Given the description of an element on the screen output the (x, y) to click on. 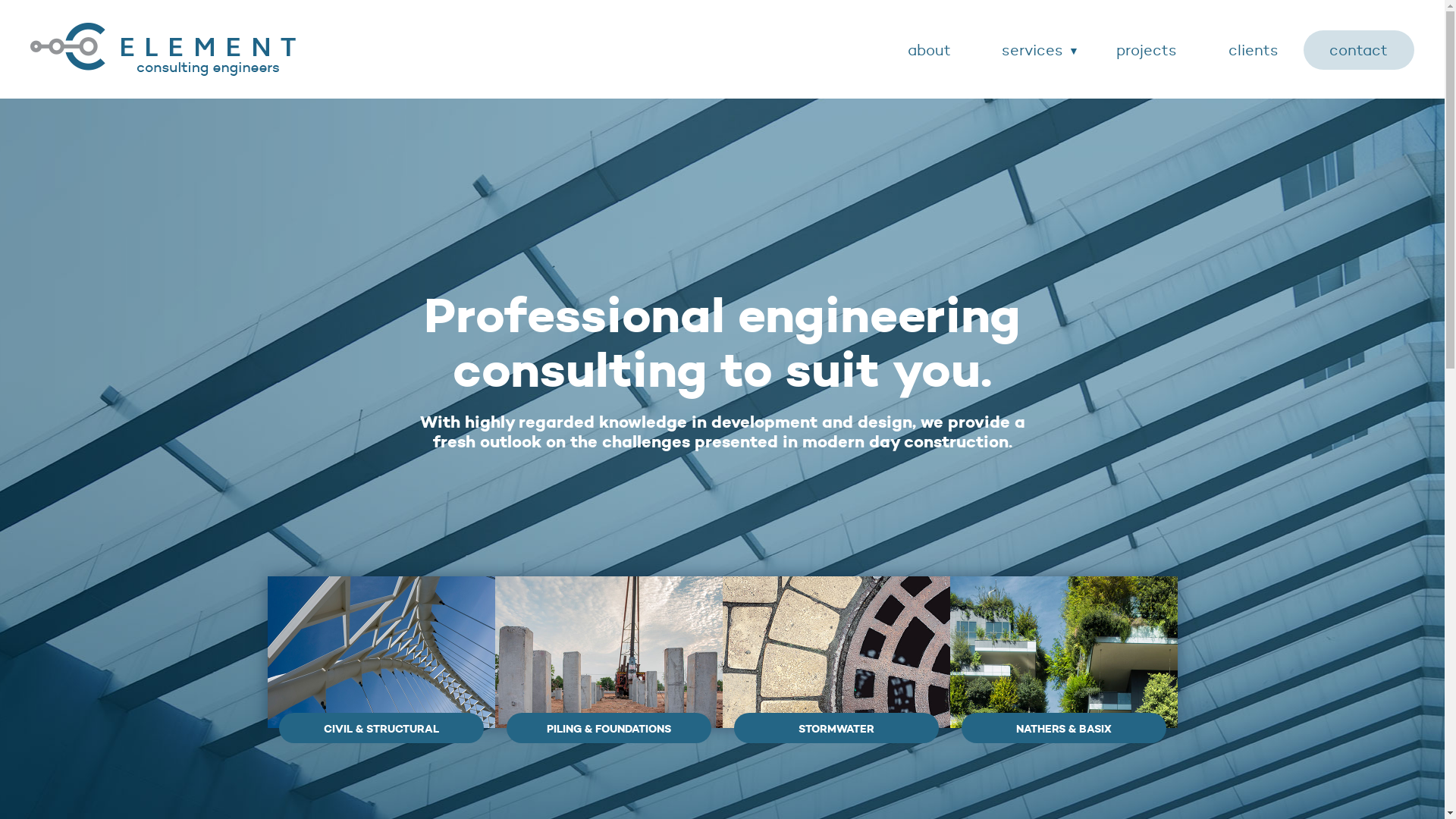
about Element type: text (929, 49)
services Element type: text (1032, 49)
contact Element type: text (1358, 49)
STORMWATER Element type: text (835, 652)
CIVIL & STRUCTURAL Element type: text (380, 652)
projects Element type: text (1146, 49)
NATHERS & BASIX Element type: text (1062, 652)
PILING & FOUNDATIONS Element type: text (607, 652)
clients Element type: text (1253, 49)
